Given the description of an element on the screen output the (x, y) to click on. 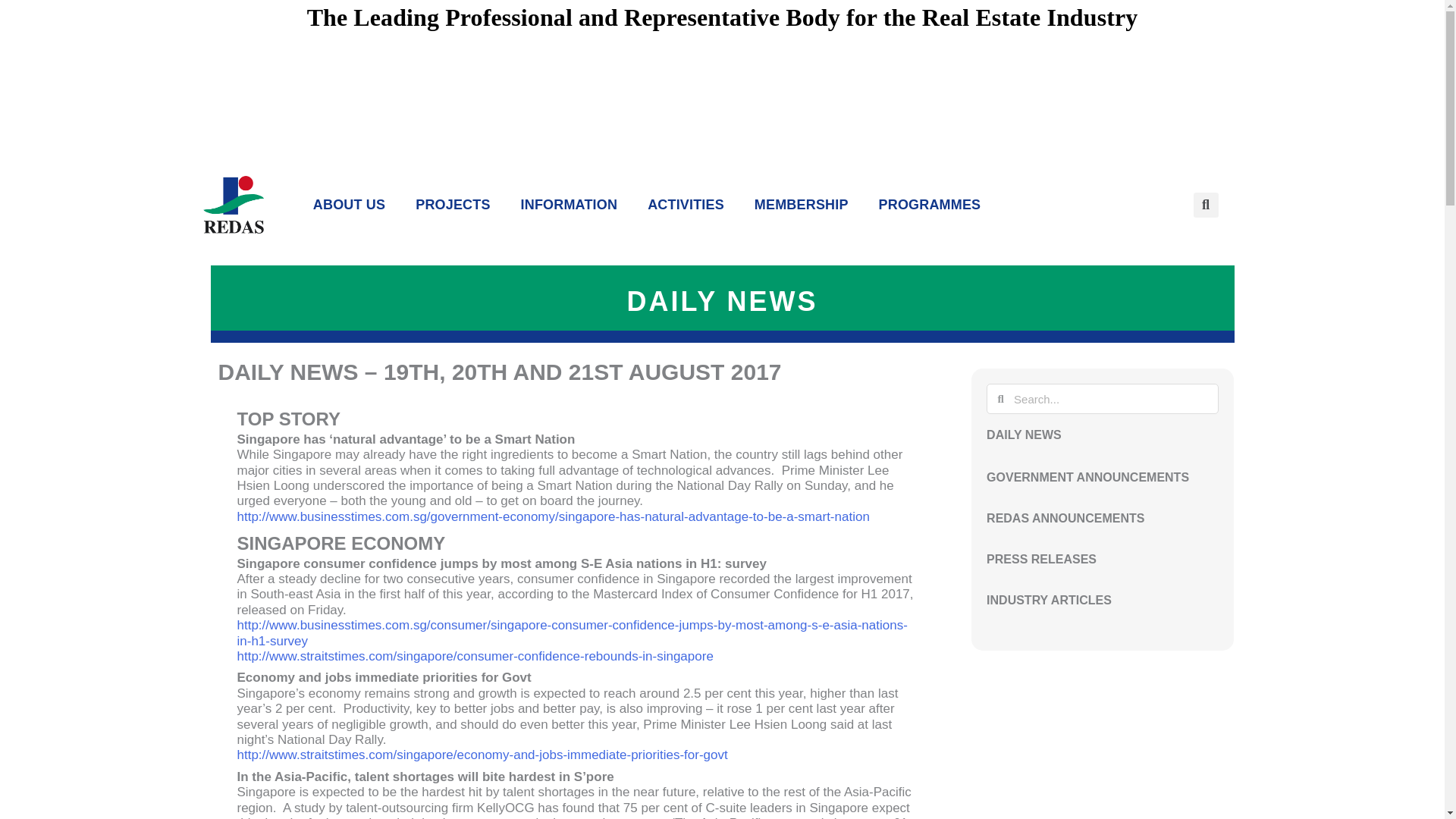
ACTIVITIES (685, 204)
PROGRAMMES (930, 204)
MEMBERSHIP (801, 204)
Search (1111, 398)
PROJECTS (451, 204)
INFORMATION (569, 204)
ABOUT US (349, 204)
